Given the description of an element on the screen output the (x, y) to click on. 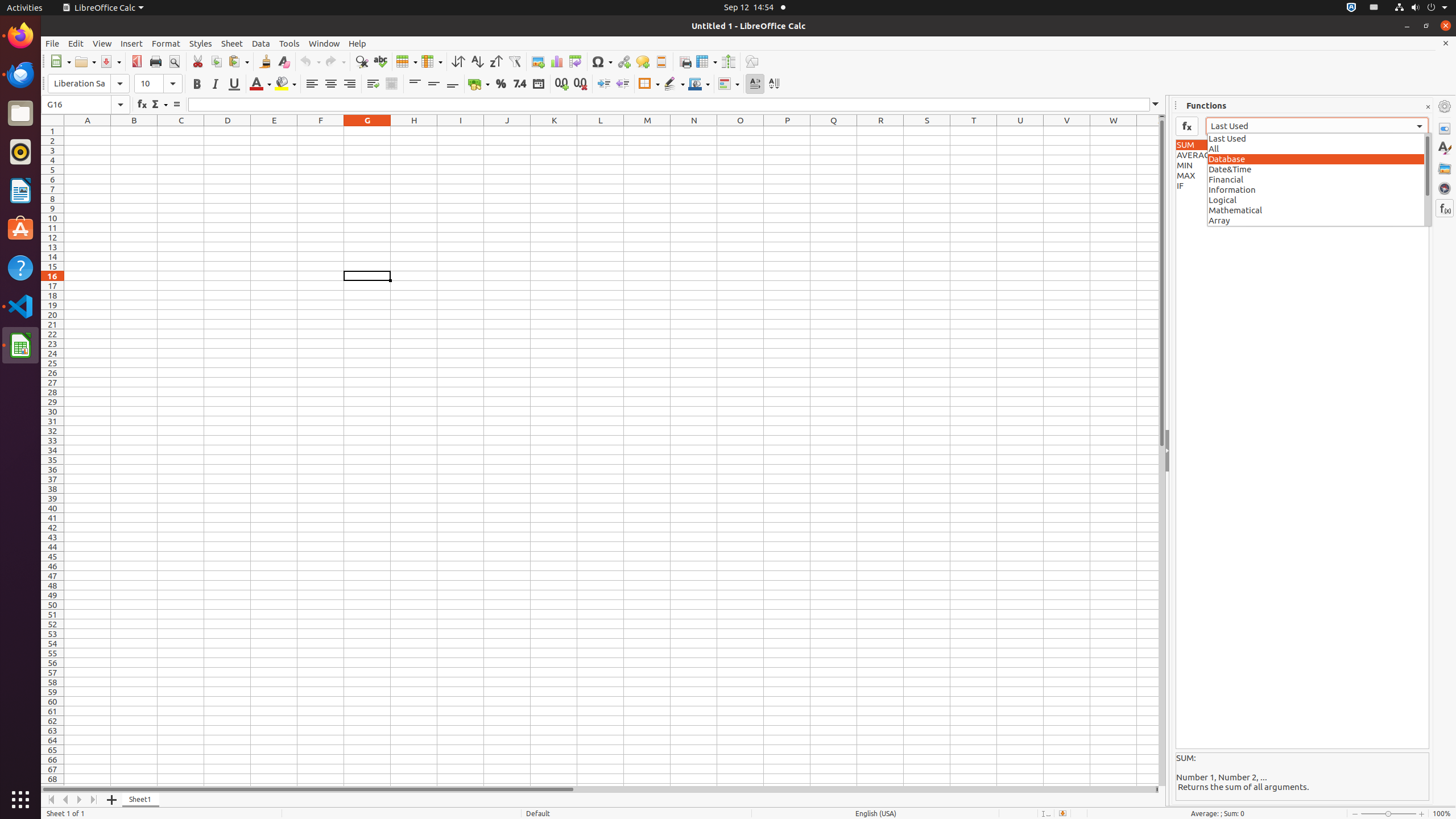
Date&Time Element type: list-item (1319, 168)
MAX Element type: list-item (1302, 175)
Align Left Element type: push-button (311, 83)
Array Element type: list-item (1319, 219)
AVERAGE Element type: list-item (1302, 155)
